Given the description of an element on the screen output the (x, y) to click on. 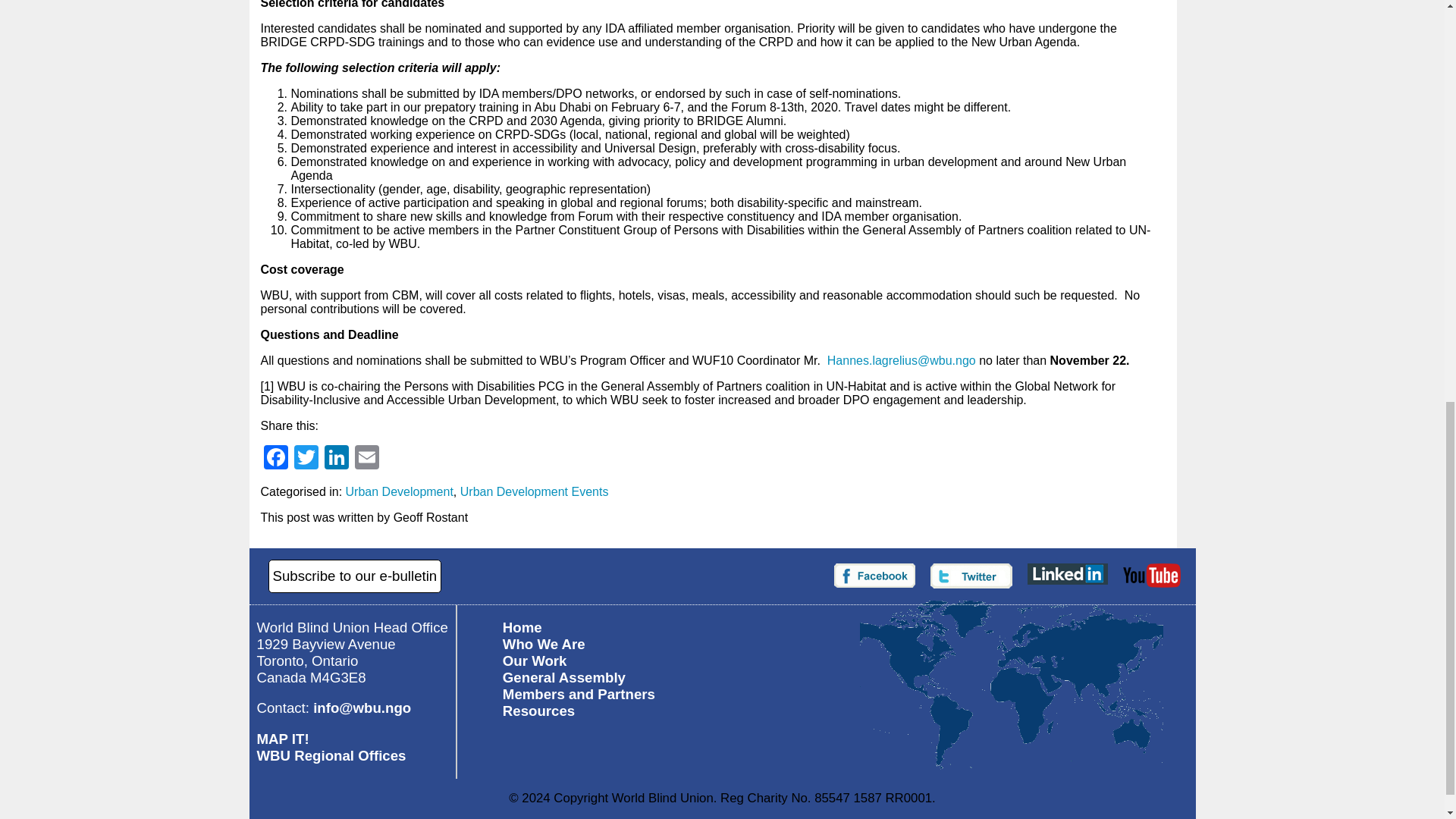
Twitter (306, 459)
Email (366, 459)
LinkedIn (336, 459)
Subscribe to our e-bulletin (354, 575)
Urban Development Events (534, 491)
Facebook (275, 459)
LinkedIn (336, 459)
Twitter (306, 459)
Email (366, 459)
Urban Development (399, 491)
Facebook (275, 459)
